Given the description of an element on the screen output the (x, y) to click on. 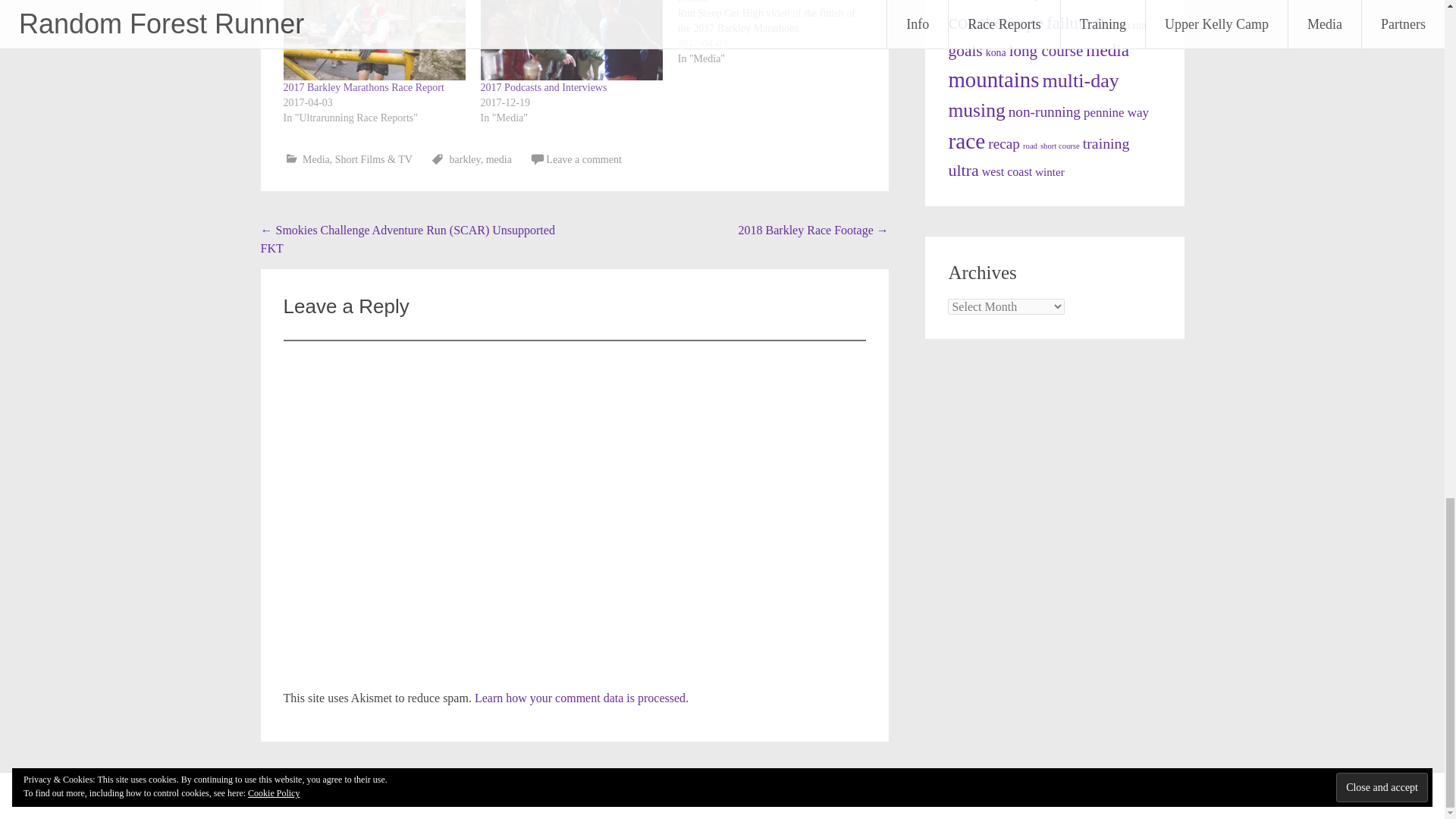
media (499, 159)
2017 Barkley Marathons Race Report (374, 39)
2017 Barkley Marathons Race Report (363, 87)
2017 Podcasts and Interviews (543, 87)
Media (316, 159)
2017 Podcasts and Interviews (543, 87)
barkley (464, 159)
2017 Barkley Marathons Race Report (363, 87)
2017 Podcasts and Interviews (571, 39)
Leave a comment (583, 159)
